Given the description of an element on the screen output the (x, y) to click on. 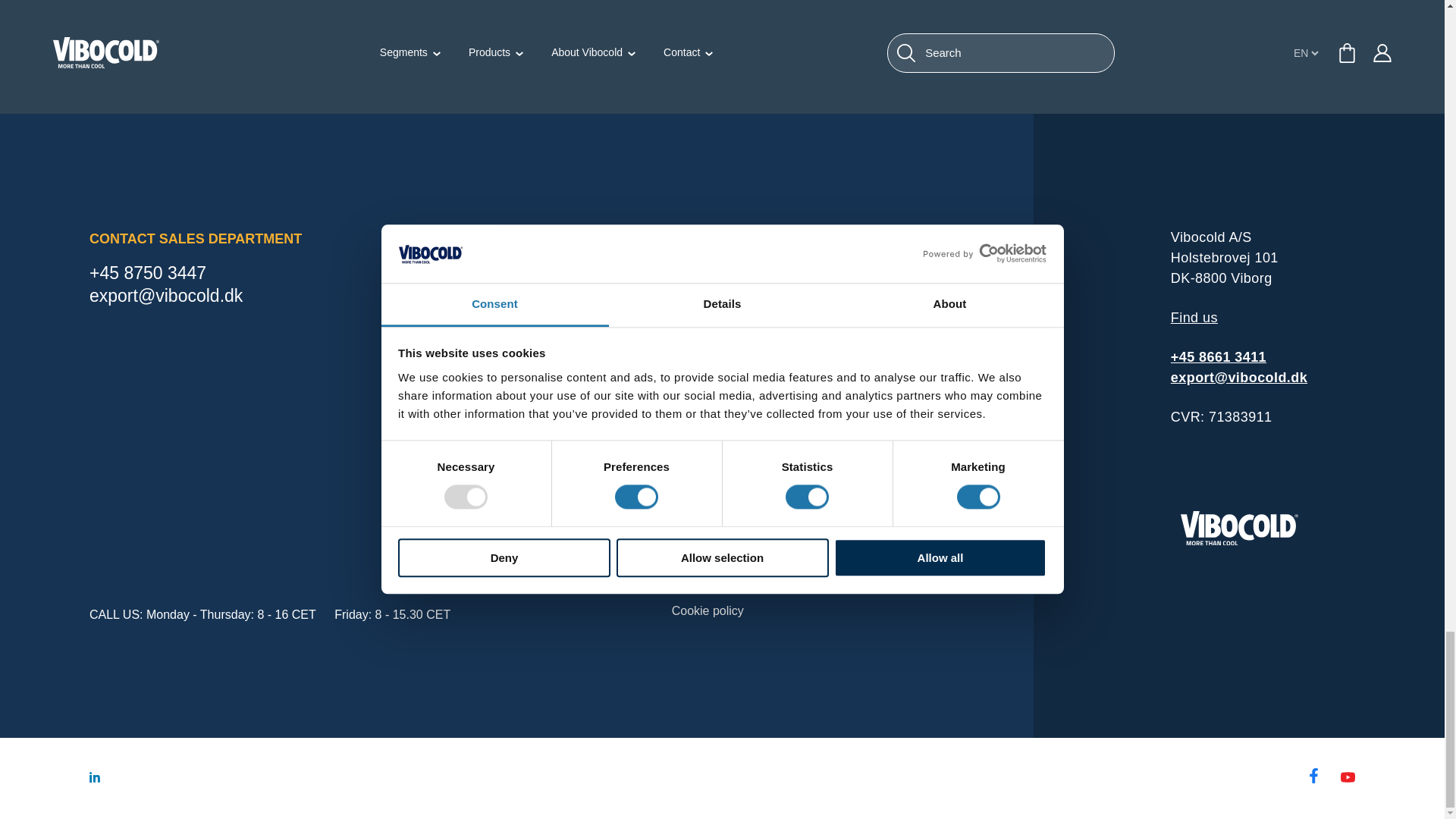
Find your way to Vibocold (1193, 317)
